Given the description of an element on the screen output the (x, y) to click on. 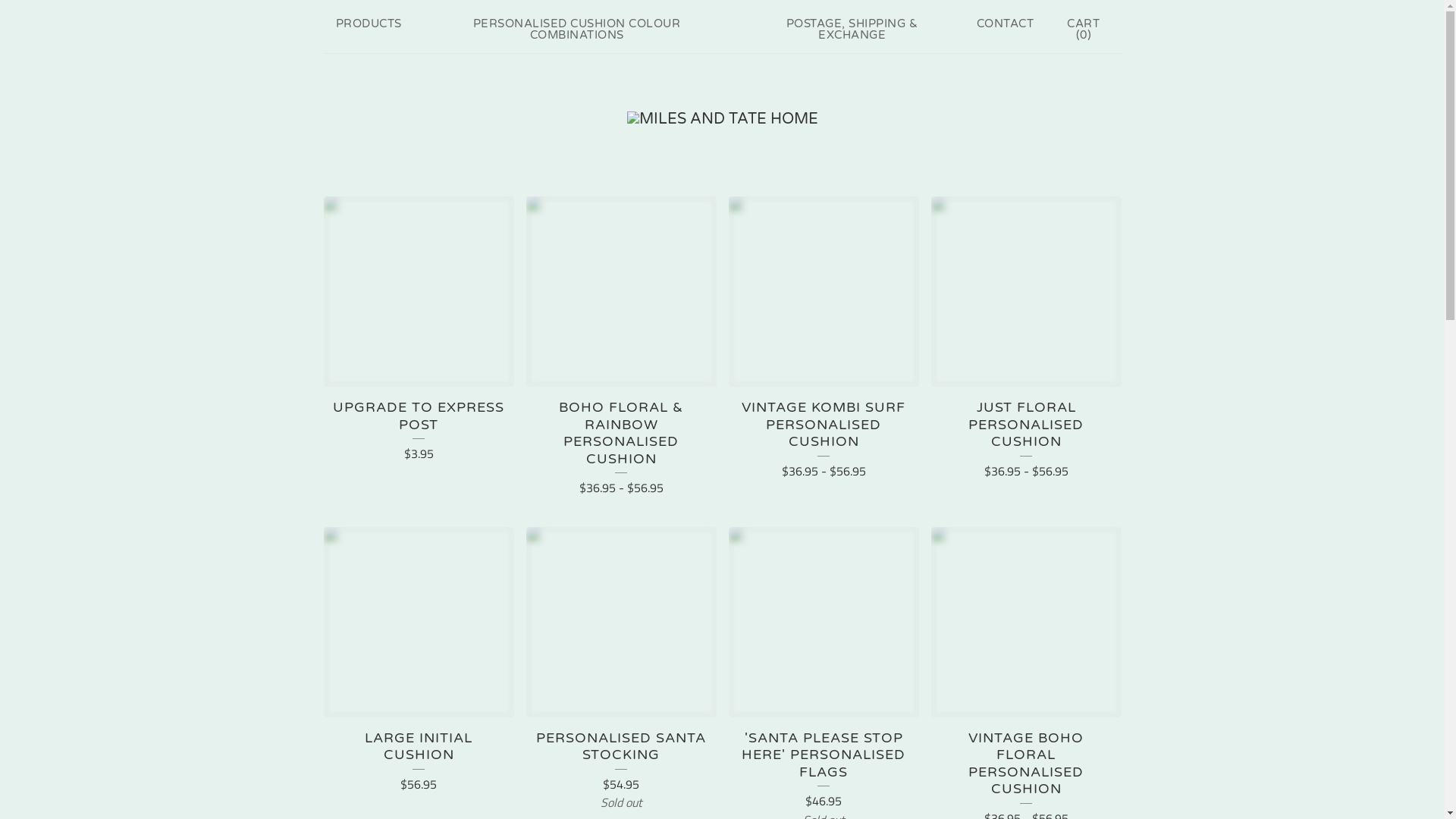
VINTAGE KOMBI SURF PERSONALISED CUSHION
$36.95 - $56.95 Element type: text (823, 343)
PERSONALISED CUSHION COLOUR COMBINATIONS Element type: text (577, 29)
CART (0) Element type: text (1082, 29)
PRODUCTS Element type: text (368, 23)
UPGRADE TO EXPRESS POST
$3.95 Element type: text (418, 335)
JUST FLORAL PERSONALISED CUSHION
$36.95 - $56.95 Element type: text (1026, 343)
POSTAGE, SHIPPING & EXCHANGE Element type: text (852, 29)
CONTACT Element type: text (1005, 23)
Home Element type: hover (721, 118)
LARGE INITIAL CUSHION
$56.95 Element type: text (418, 665)
BOHO FLORAL & RAINBOW PERSONALISED CUSHION
$36.95 - $56.95 Element type: text (621, 352)
